Given the description of an element on the screen output the (x, y) to click on. 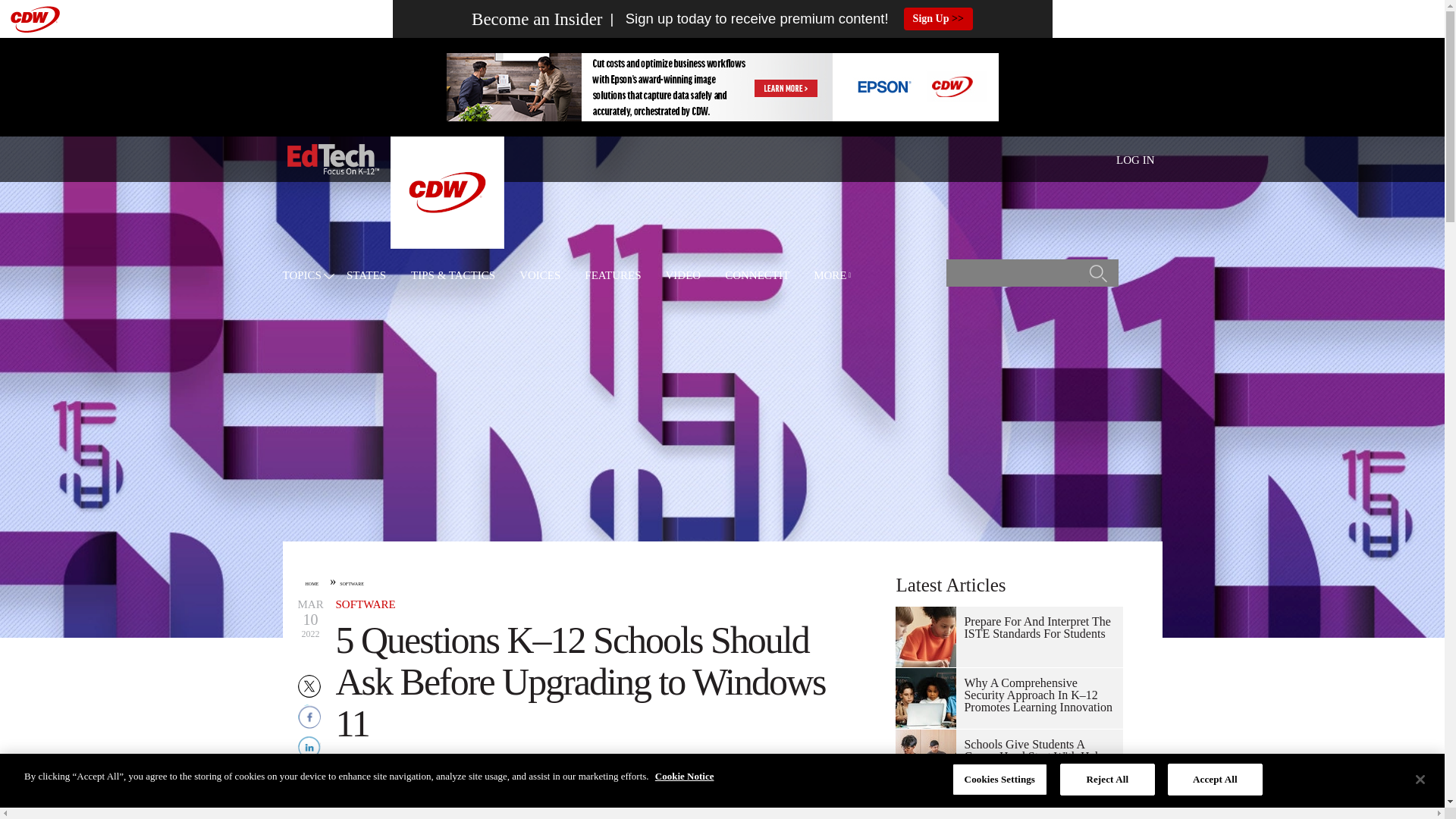
Sign up today to receive premium content! (745, 19)
User menu (1135, 160)
VOICES (539, 275)
LOG IN (1135, 159)
Become an Insider (536, 18)
CDW (446, 244)
Sign Up (938, 18)
Home (332, 158)
FEATURES (612, 275)
STATES (365, 275)
advertisement (721, 87)
